Given the description of an element on the screen output the (x, y) to click on. 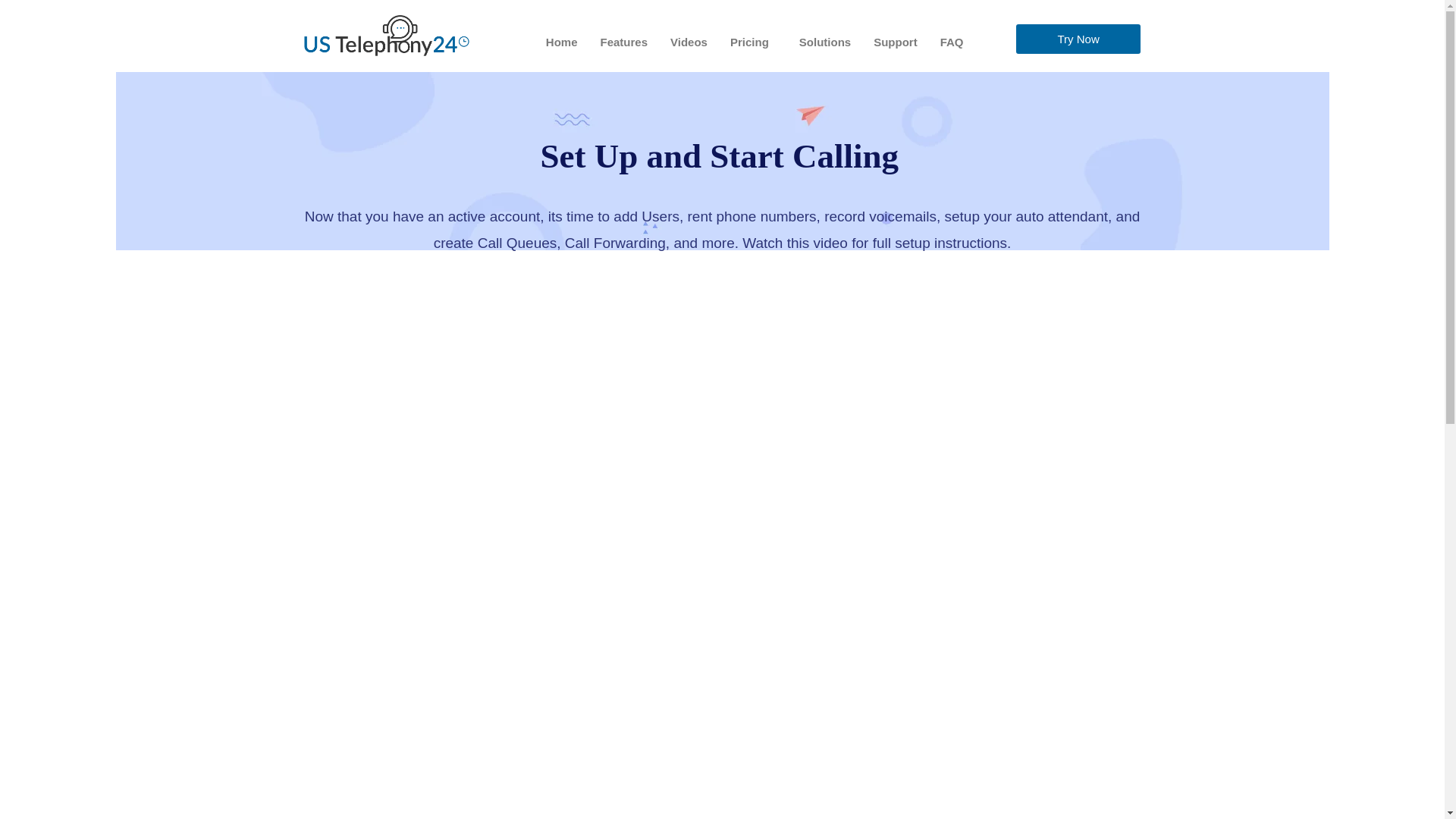
Videos (689, 41)
Solutions (824, 41)
Home (561, 41)
Features (624, 41)
FAQ (951, 41)
Pricing (753, 41)
Support (894, 41)
Try Now (1078, 39)
